Given the description of an element on the screen output the (x, y) to click on. 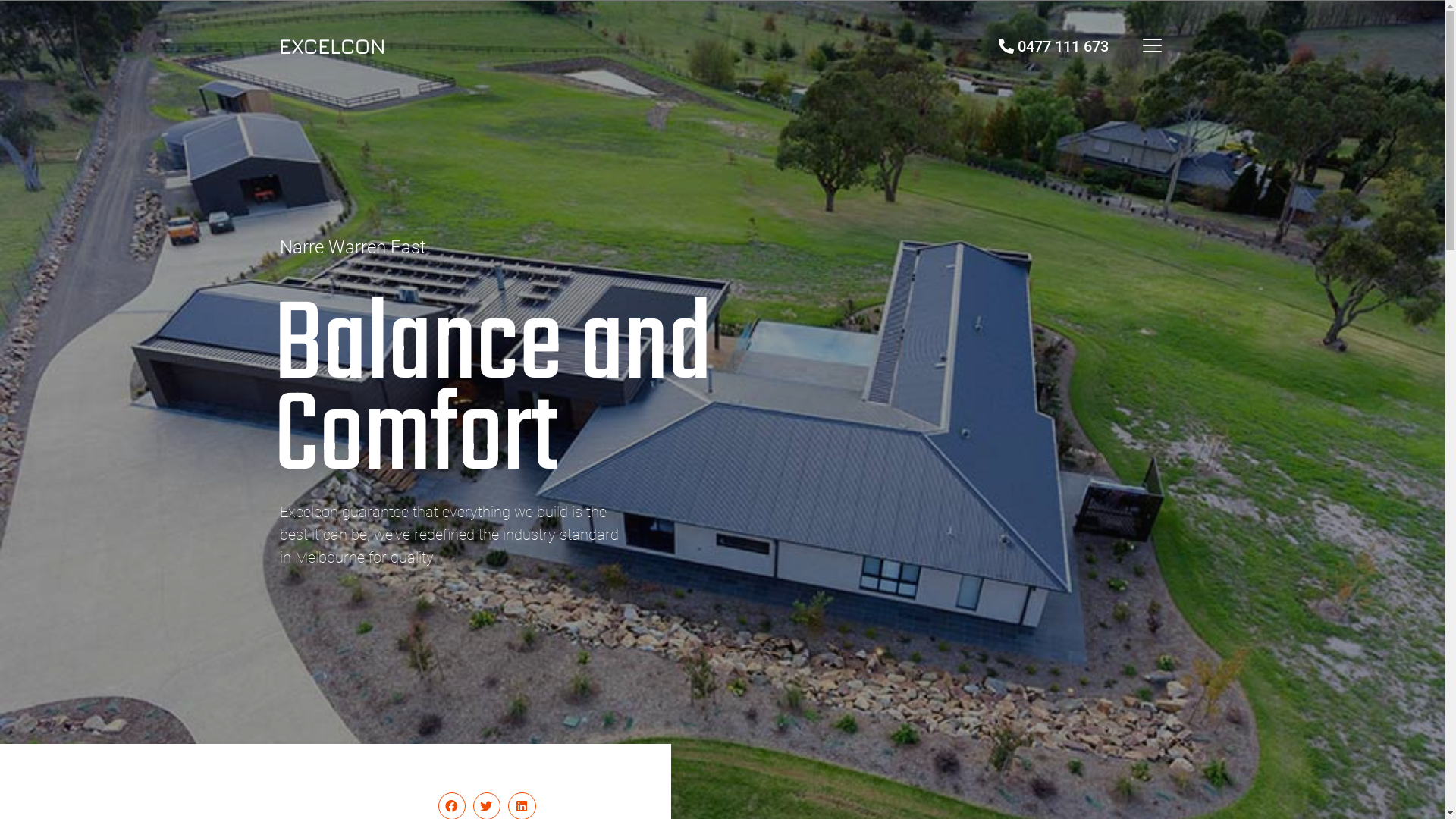
0477 111 673 Element type: text (1053, 46)
EXCELCON Element type: text (332, 45)
